Given the description of an element on the screen output the (x, y) to click on. 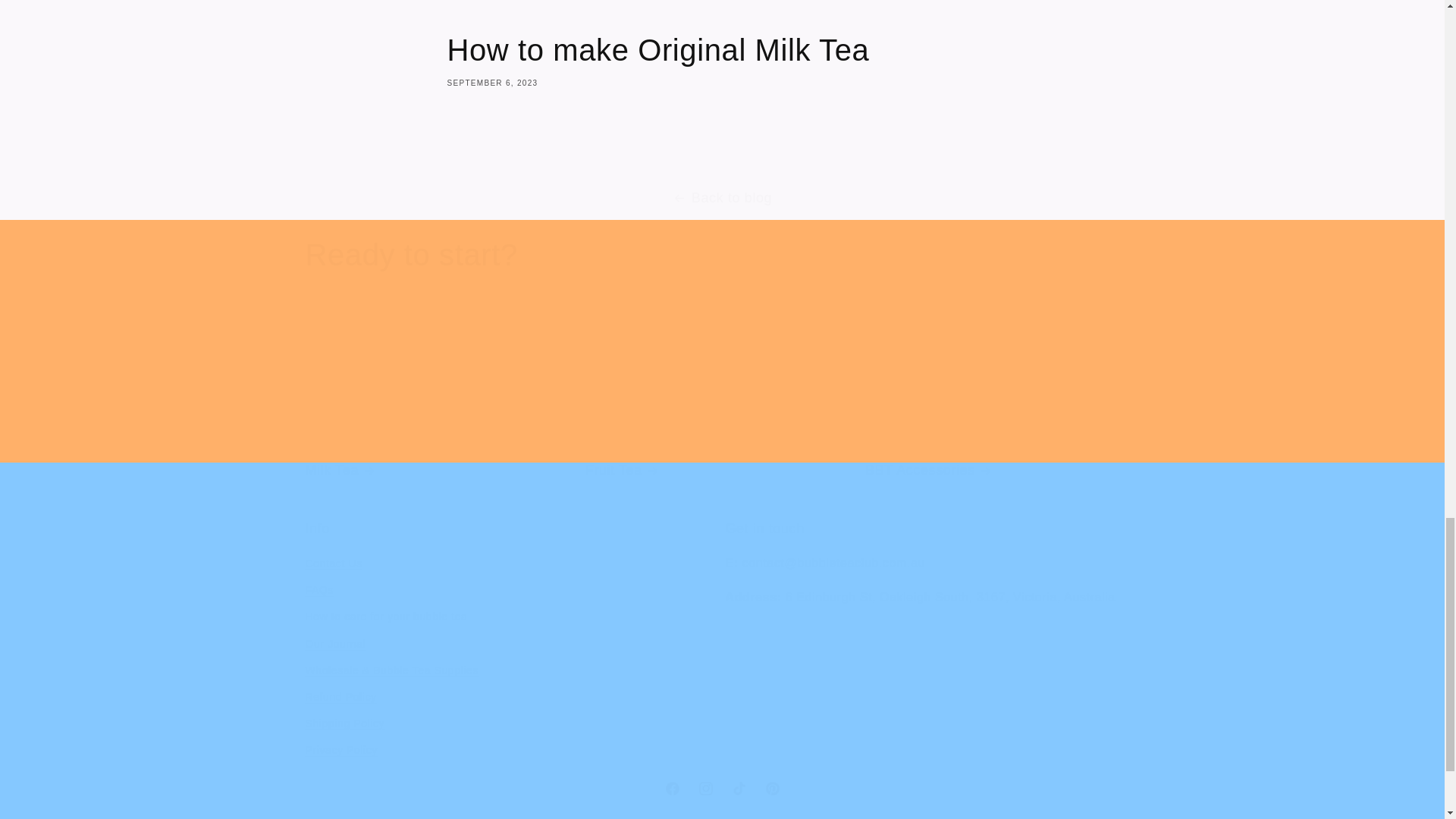
Ready to start? (410, 254)
BBT Accessories (1001, 402)
Fruit Tea (722, 402)
Milk Tea (441, 402)
